Given the description of an element on the screen output the (x, y) to click on. 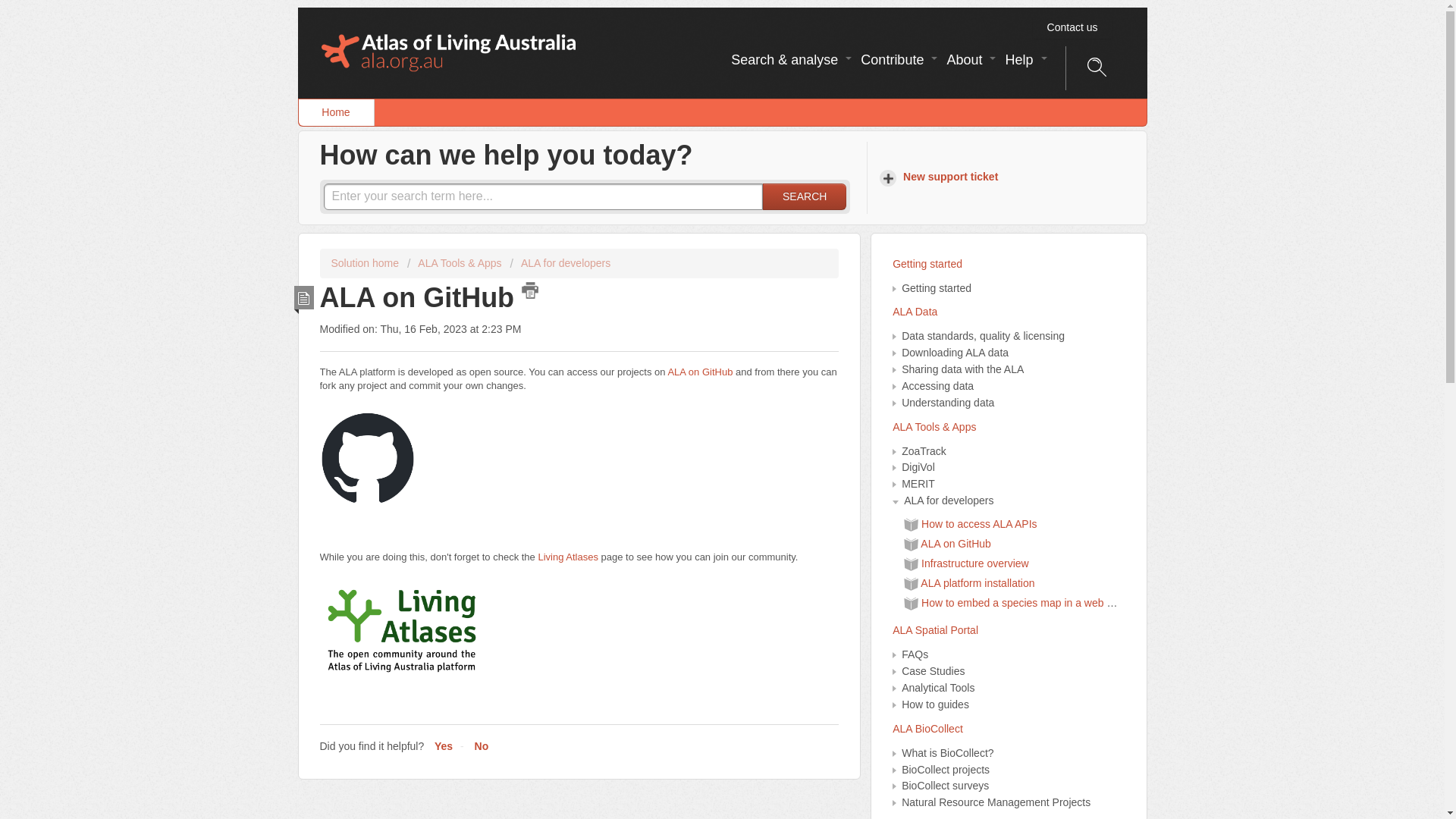
Print this Article Element type: hover (529, 290)
Search & analyse Element type: text (789, 59)
ALA Data Element type: text (1008, 312)
Solution home Element type: text (365, 263)
ALA BioCollect Element type: text (1008, 729)
Contact us Element type: text (1072, 26)
Contribute Element type: text (897, 59)
Living Atlases Element type: text (567, 556)
Help Element type: text (1023, 59)
How to access ALA APIs Element type: text (979, 523)
Skip to content Element type: text (297, 6)
ALA Spatial Portal Element type: text (1008, 630)
ALA for developers Element type: text (560, 263)
Getting started Element type: text (1008, 264)
New support ticket Element type: text (941, 177)
About Element type: text (969, 59)
SEARCH Element type: text (804, 196)
ALA platform installation Element type: text (977, 583)
ALA Tools & Apps Element type: text (454, 263)
ALA on GitHub Element type: text (955, 543)
Home Element type: text (336, 112)
Infrastructure overview Element type: text (975, 563)
ALA on GitHub Element type: text (699, 371)
ALA Tools & Apps Element type: text (1008, 427)
